Given the description of an element on the screen output the (x, y) to click on. 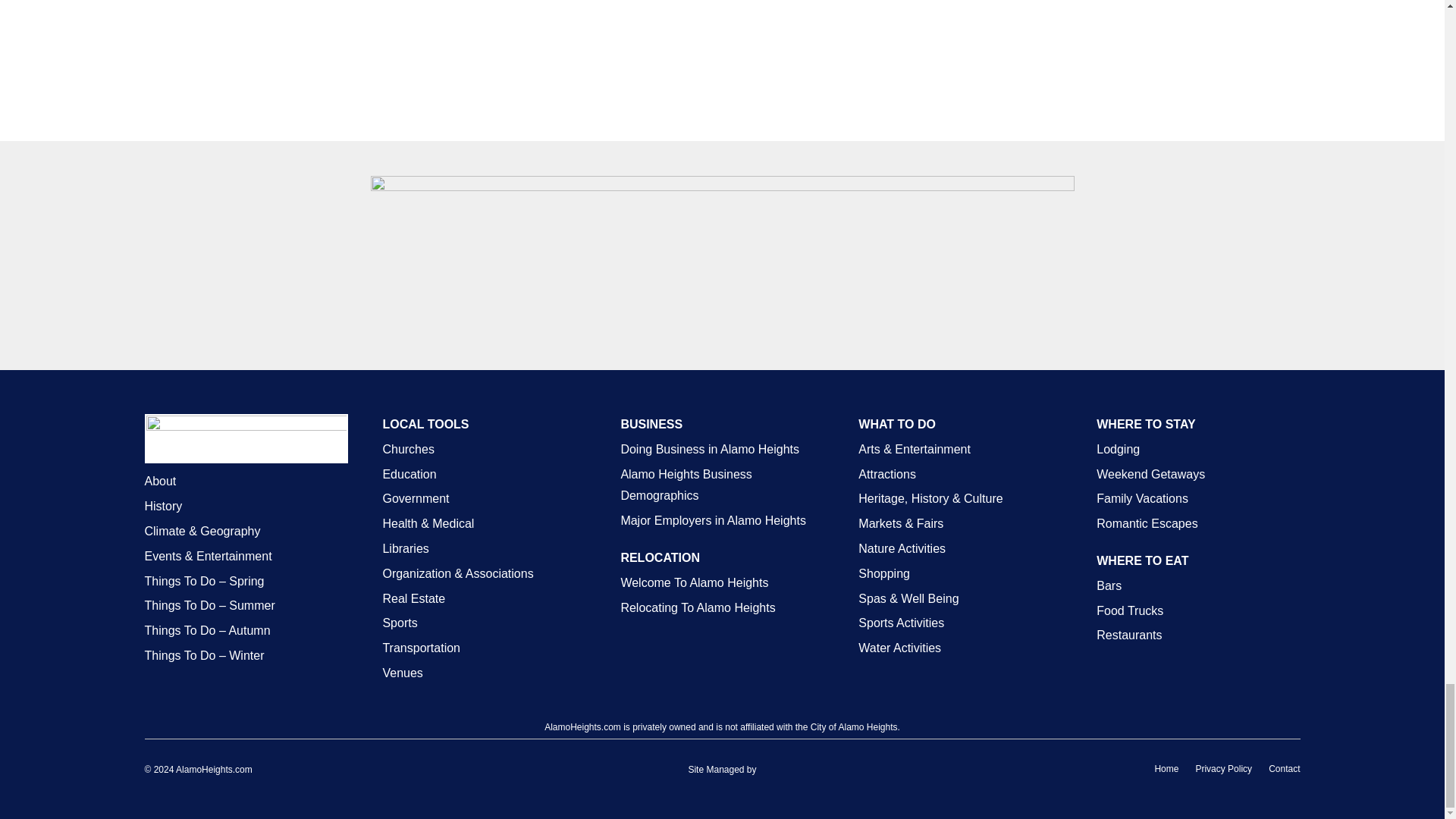
Home (1165, 771)
Privacy Policy (1223, 771)
Contact (1284, 771)
Zoo-banner-1 (721, 255)
